Given the description of an element on the screen output the (x, y) to click on. 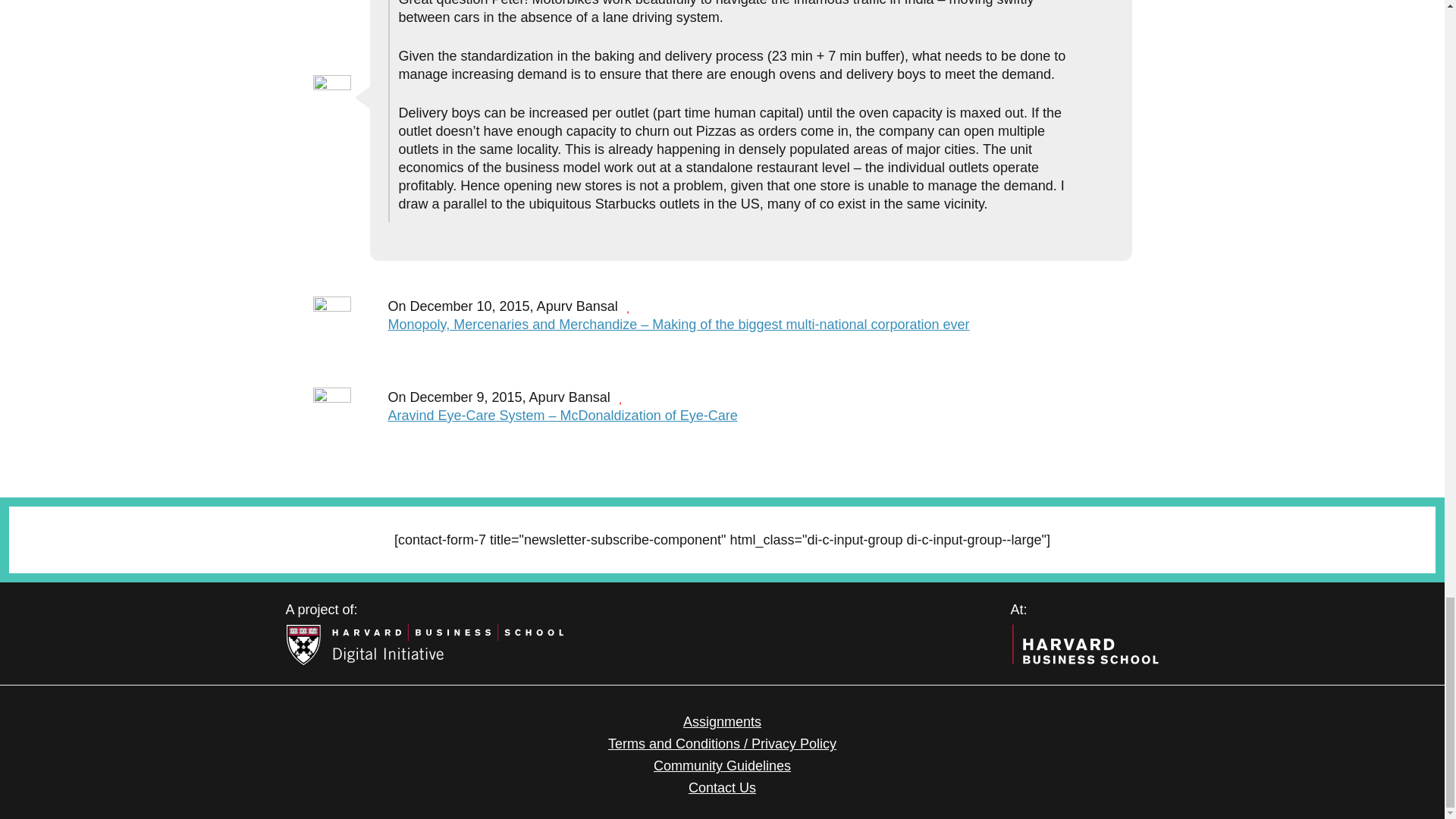
Assignments (721, 721)
Contact Us (721, 787)
Community Guidelines (721, 765)
